Given the description of an element on the screen output the (x, y) to click on. 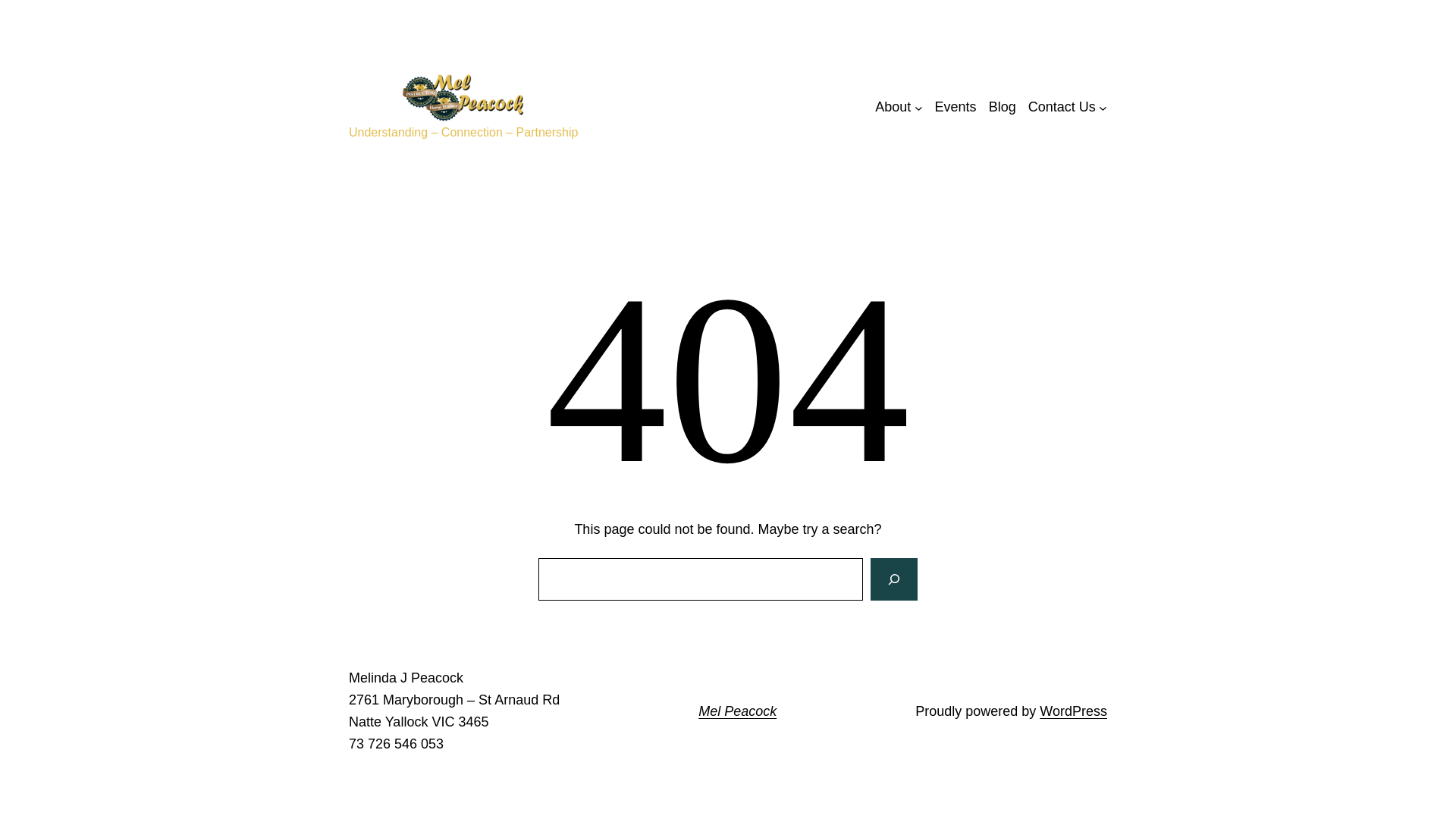
Contact Us Element type: text (1061, 107)
Mel Peacock Element type: text (737, 710)
WordPress Element type: text (1073, 710)
Events Element type: text (955, 107)
Blog Element type: text (1002, 107)
About Element type: text (892, 107)
